Given the description of an element on the screen output the (x, y) to click on. 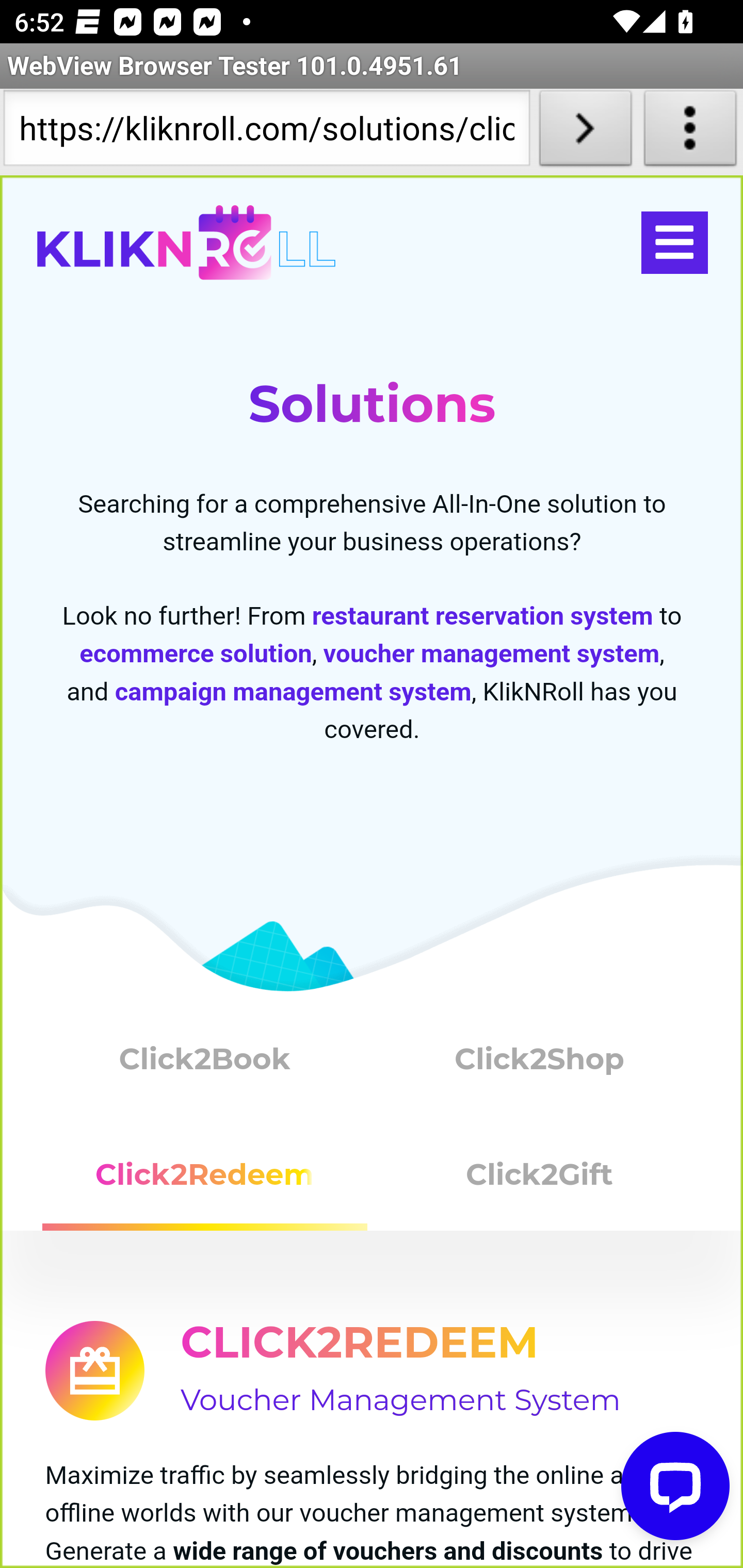
https://kliknroll.com/solutions/click2redeem/ (266, 132)
Load URL (585, 132)
About WebView (690, 132)
kliknroll (185, 242)
 (673, 242)
Click2Book (204, 1062)
Click2Shop (540, 1062)
Click2Redeem (204, 1181)
Click2Gift (540, 1181)
Open LiveChat chat widget (676, 1486)
